Given the description of an element on the screen output the (x, y) to click on. 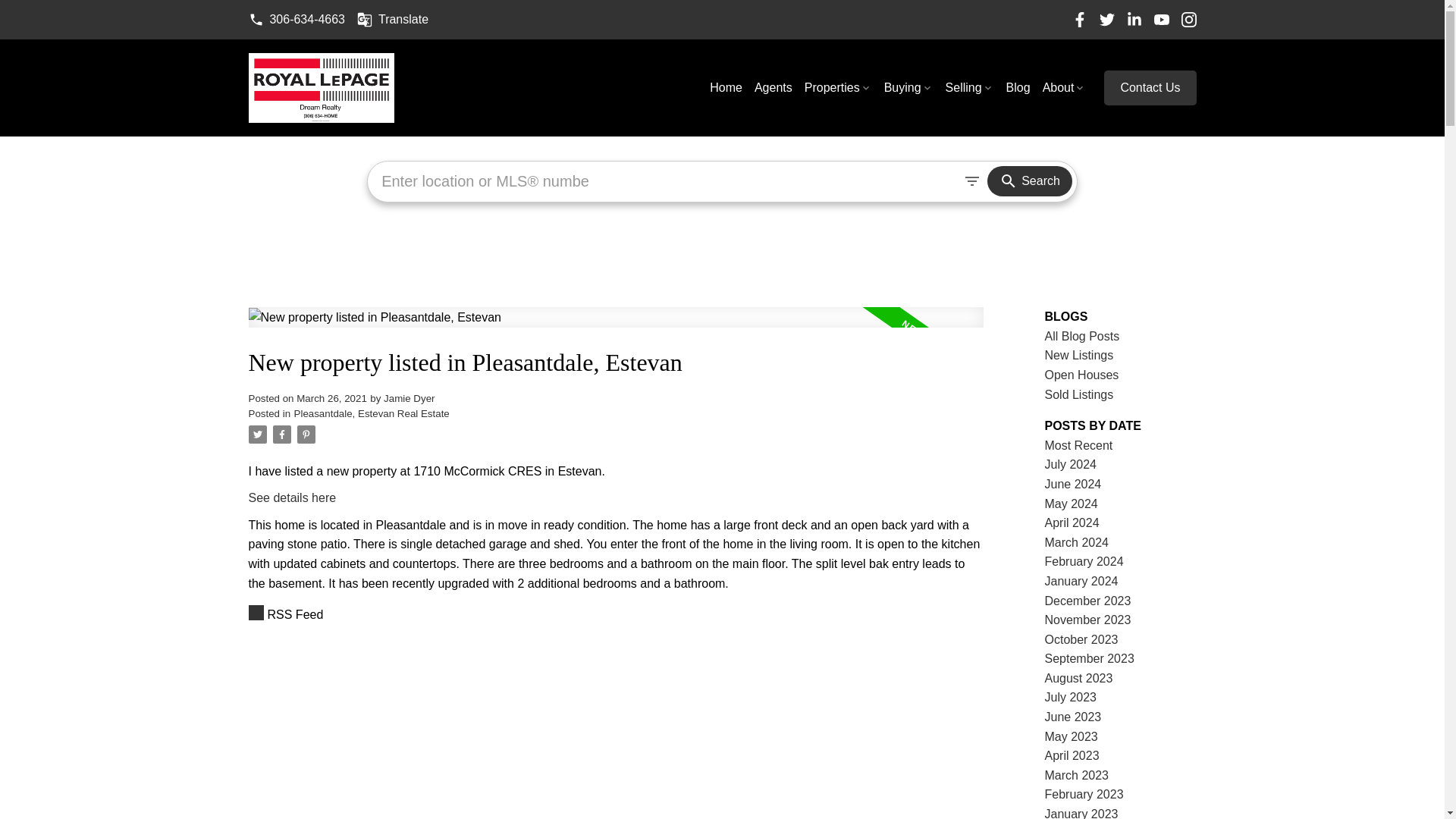
306-634-4663 (297, 19)
New Listings (1079, 354)
July 2024 (1071, 463)
May 2024 (1071, 503)
Sold Listings (1079, 394)
Agents (773, 87)
Pleasantdale, Estevan Real Estate (371, 413)
Contact Us (1149, 87)
RSS (616, 614)
Translate (392, 19)
